Given the description of an element on the screen output the (x, y) to click on. 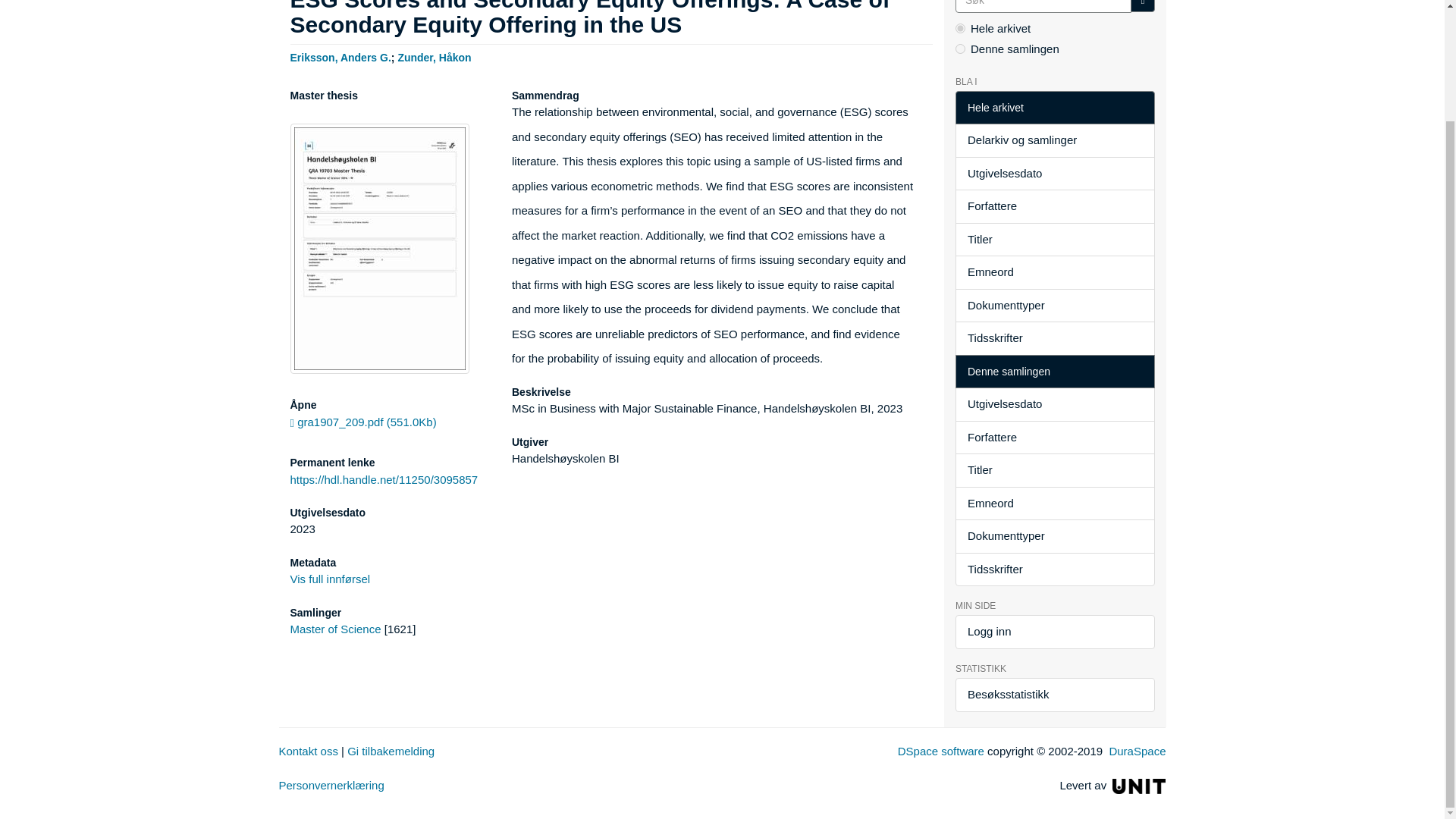
Titler (1054, 239)
Unit (1139, 784)
Delarkiv og samlinger (1054, 140)
Utgivelsesdato (1054, 173)
Forfattere (1054, 206)
Master of Science (334, 628)
Eriksson, Anders G. (339, 56)
Hele arkivet (1054, 107)
